Given the description of an element on the screen output the (x, y) to click on. 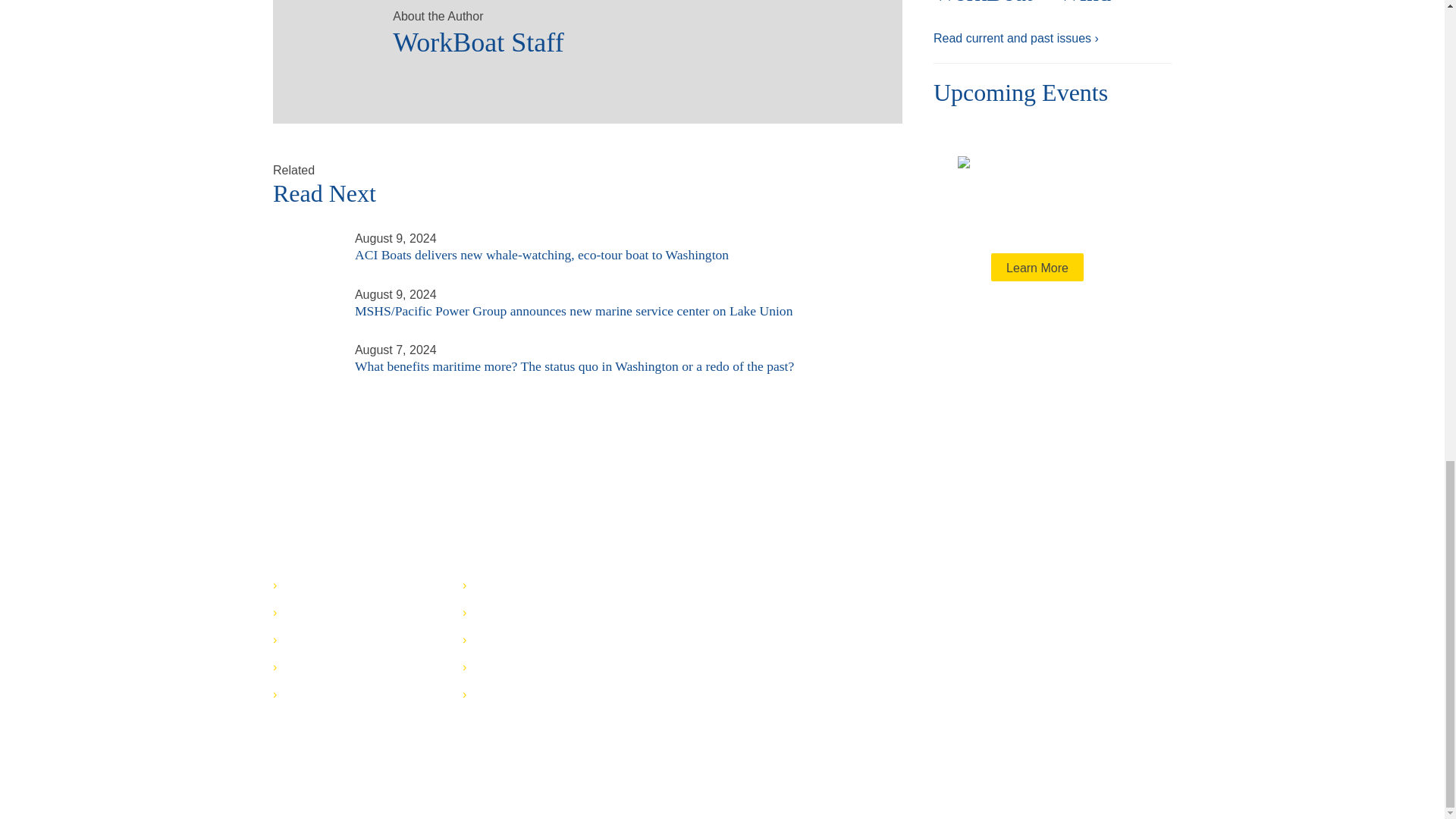
WorkBoat Staff (631, 37)
WorkBoat Staff (325, 33)
